Given the description of an element on the screen output the (x, y) to click on. 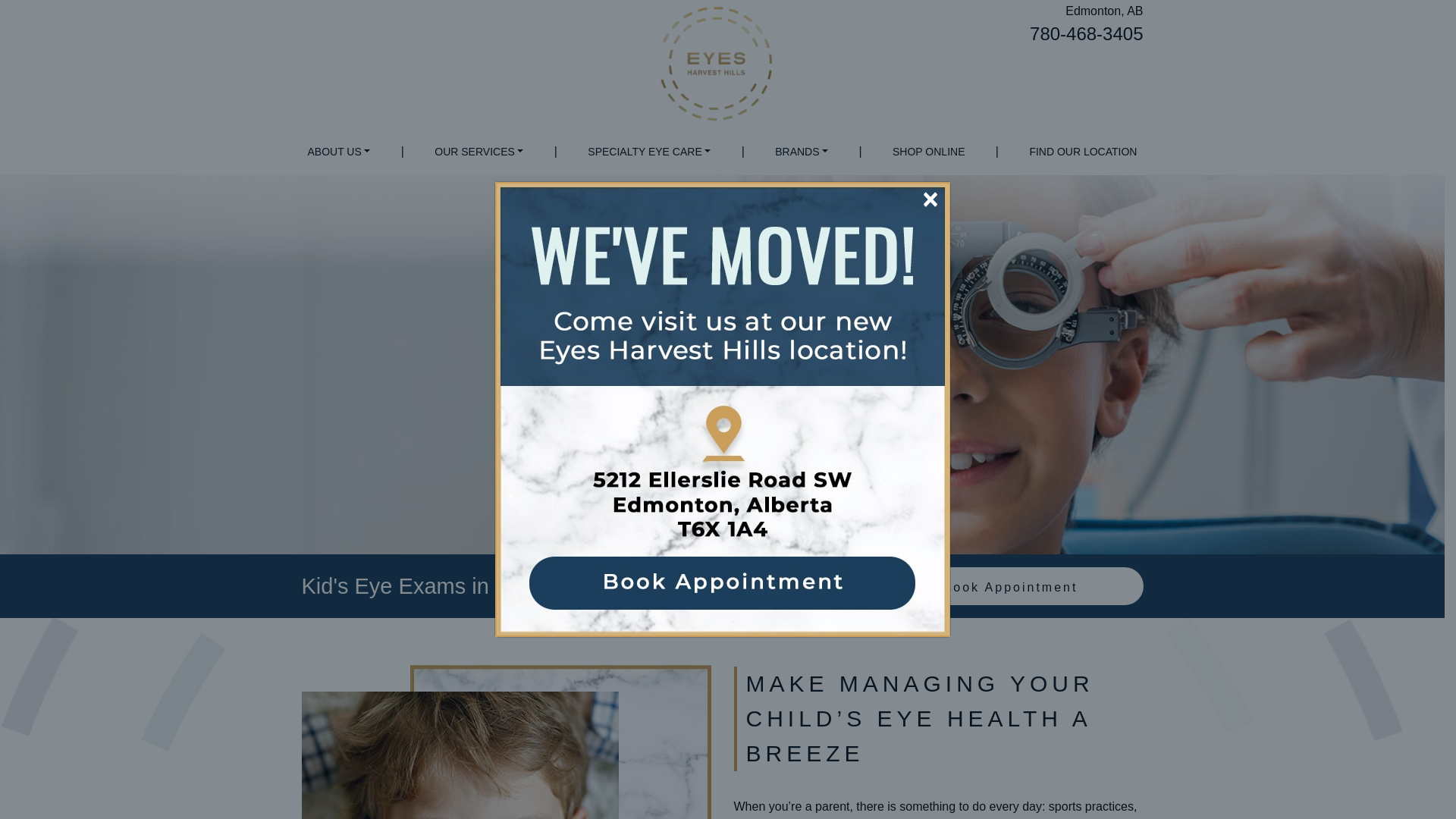
ABOUT US (339, 151)
BRANDS (801, 151)
Our Services (478, 151)
Book Appointment (1009, 585)
FIND OUR LOCATION (1082, 151)
About Us (339, 151)
780-468-3405 (1085, 33)
SPECIALTY EYE CARE (648, 151)
Specialty Eye Care (648, 151)
OUR SERVICES (478, 151)
SHOP ONLINE (928, 151)
